Given the description of an element on the screen output the (x, y) to click on. 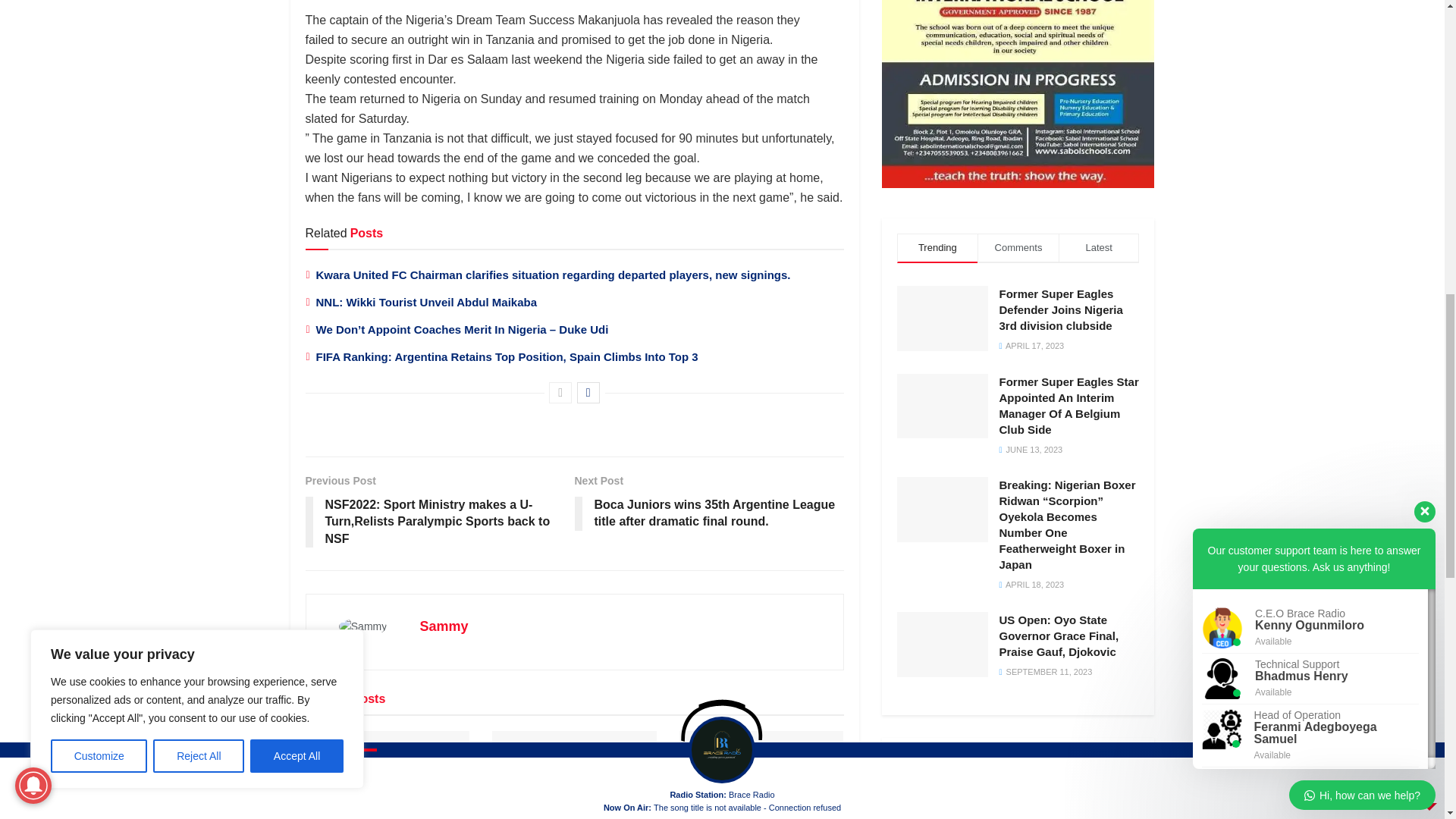
Next (587, 392)
Previous (560, 392)
